Given the description of an element on the screen output the (x, y) to click on. 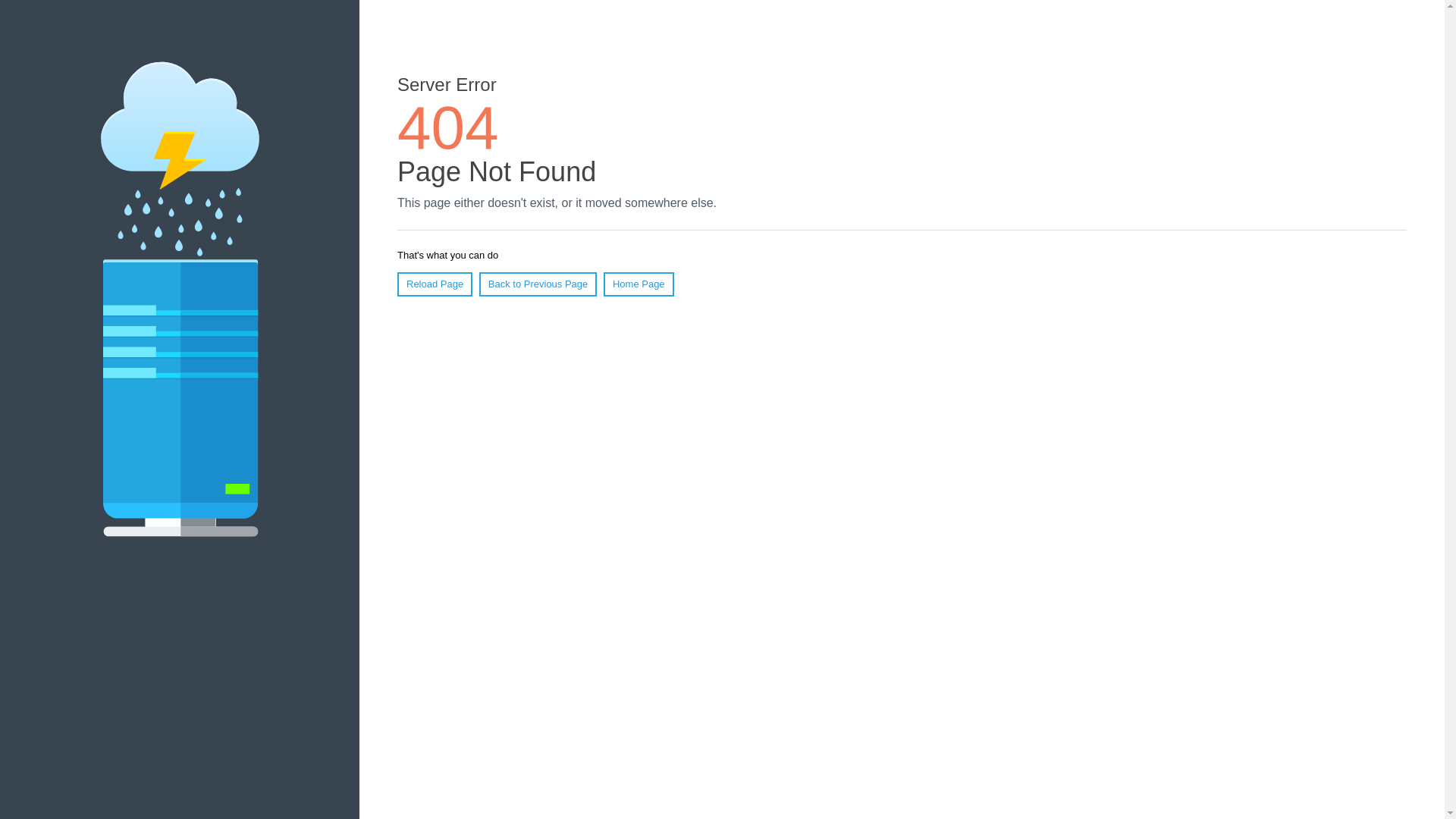
Reload Page Element type: text (434, 284)
Home Page Element type: text (638, 284)
Back to Previous Page Element type: text (538, 284)
